Given the description of an element on the screen output the (x, y) to click on. 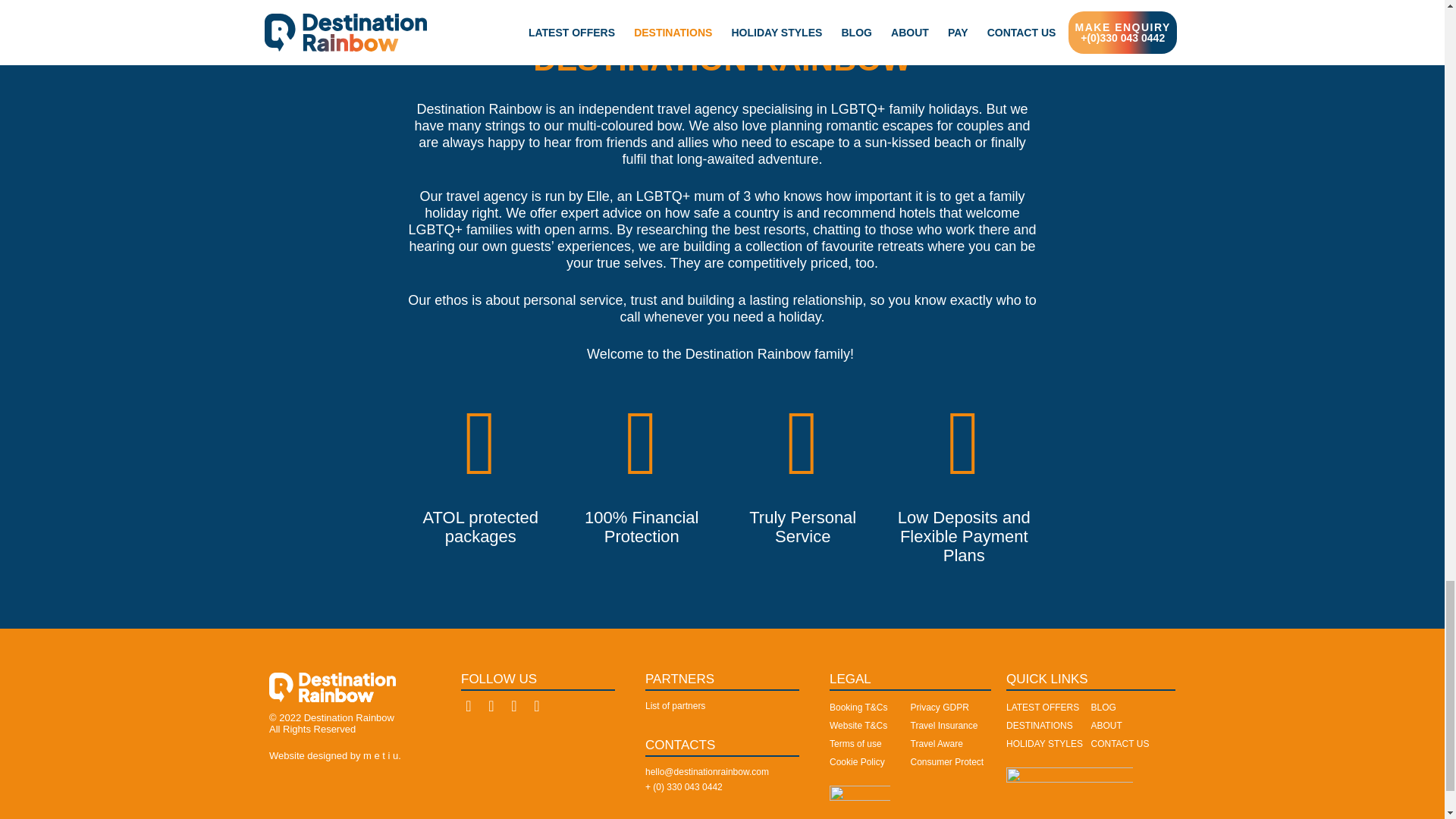
Consumer Protect (947, 761)
List of partners (674, 706)
LATEST OFFERS (1042, 706)
m e t i u. (381, 755)
Privacy GDPR (939, 706)
Travel Insurance (943, 725)
Terms of use (855, 743)
ABOUT (1105, 725)
Cookie Policy (857, 761)
BLOG (1102, 706)
